Given the description of an element on the screen output the (x, y) to click on. 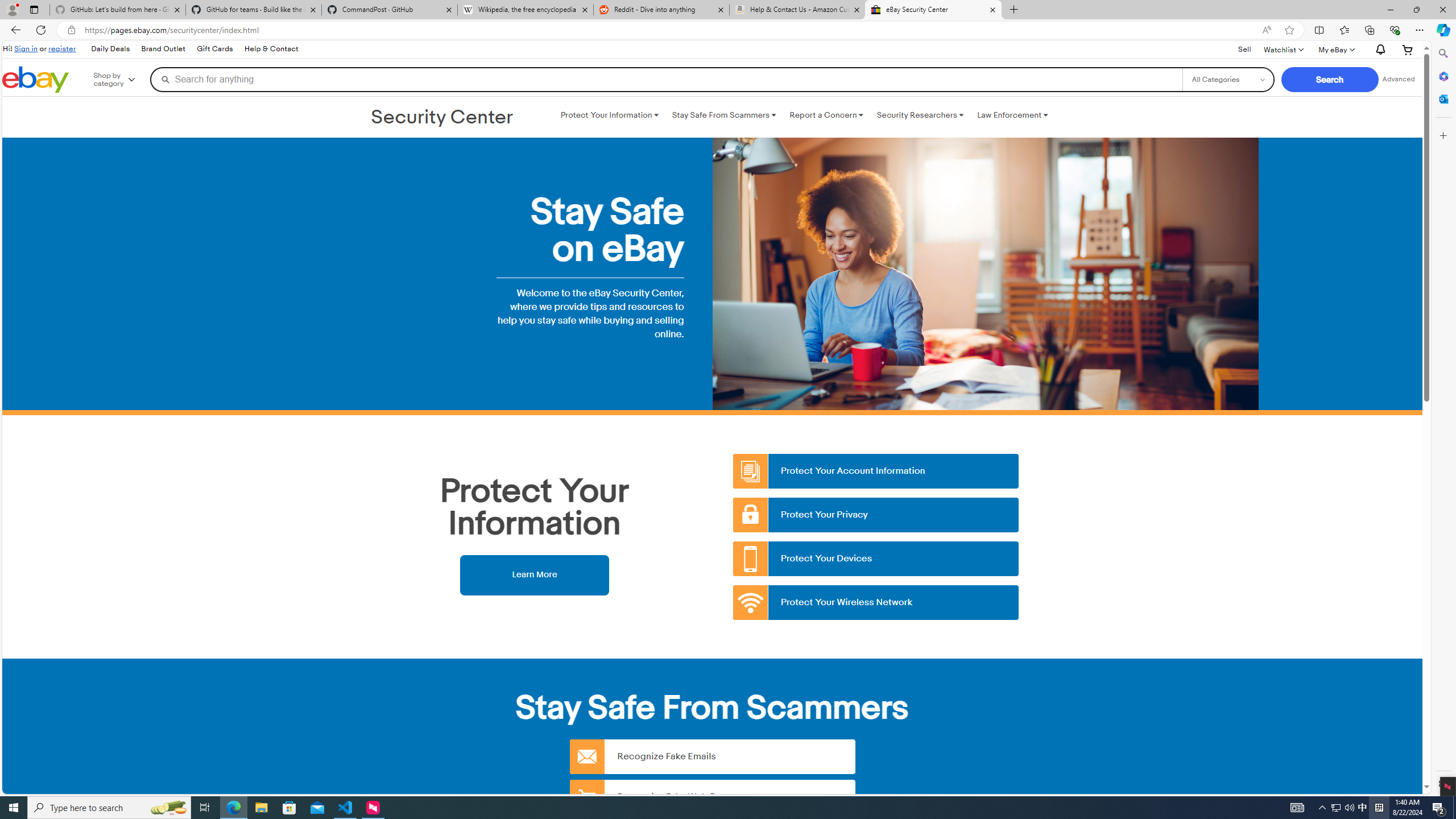
Wikipedia, the free encyclopedia (525, 9)
Shop by category (122, 79)
